Given the description of an element on the screen output the (x, y) to click on. 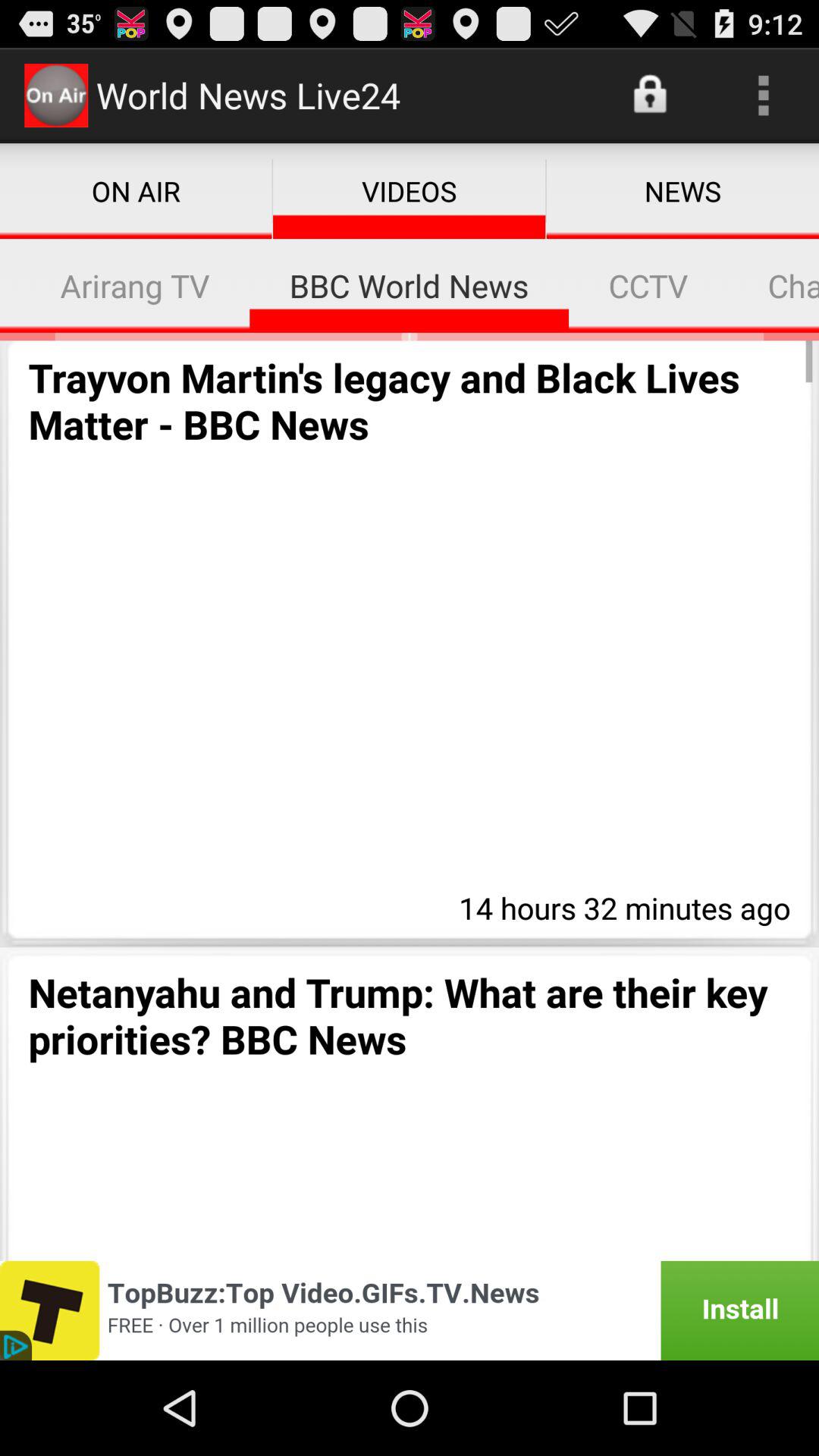
click the icon next to the world news live24 item (651, 95)
